Given the description of an element on the screen output the (x, y) to click on. 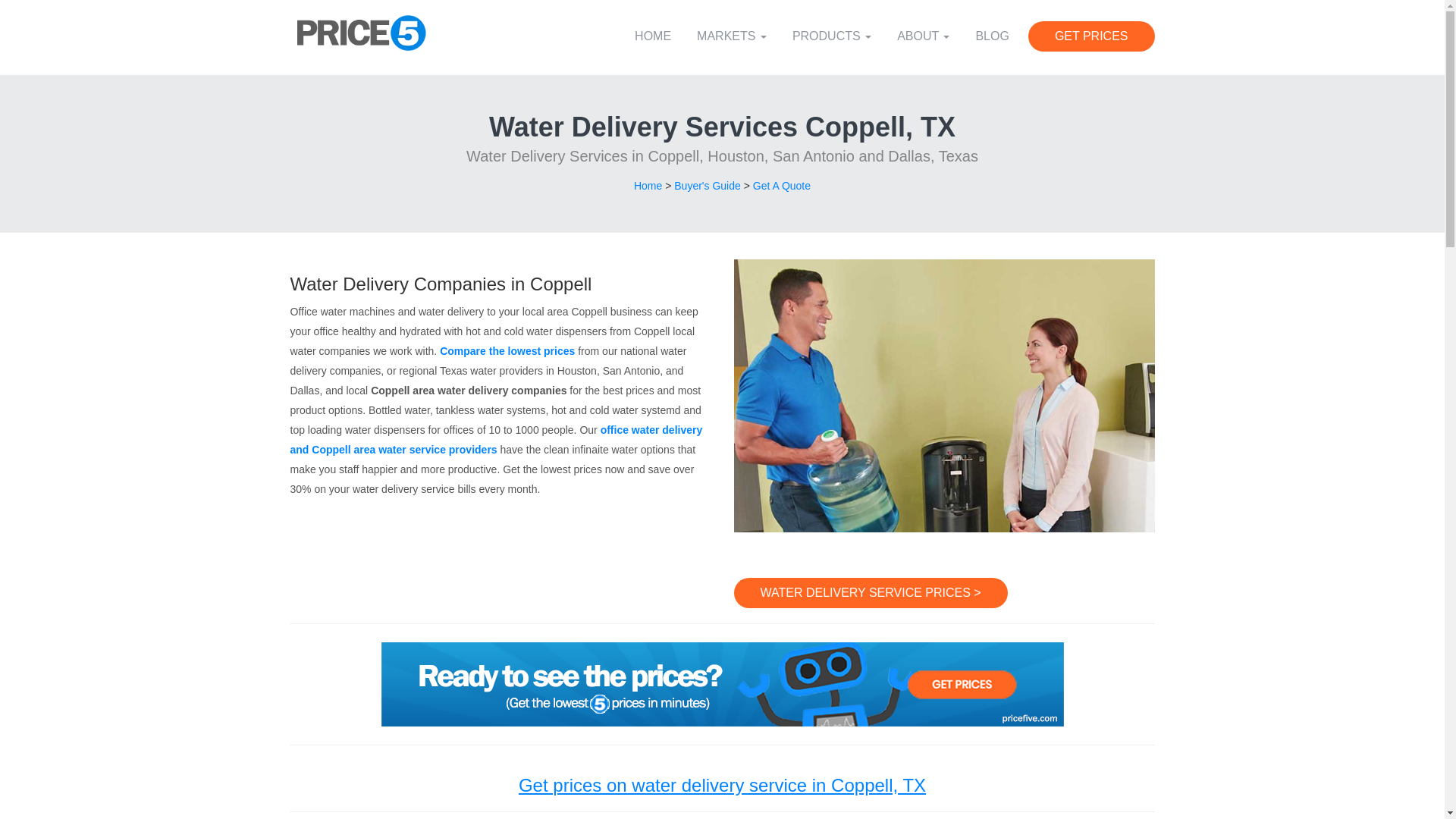
ABOUT (922, 36)
Get prices on water delivery service in Coppell, TX (722, 784)
Buyer's Guide (707, 185)
BLOG (992, 36)
Home (647, 185)
PRODUCTS (830, 36)
Get A Quote (781, 185)
GET PRICES (1090, 36)
Compare the lowest prices (507, 350)
HOME (652, 36)
MARKETS (731, 36)
